Given the description of an element on the screen output the (x, y) to click on. 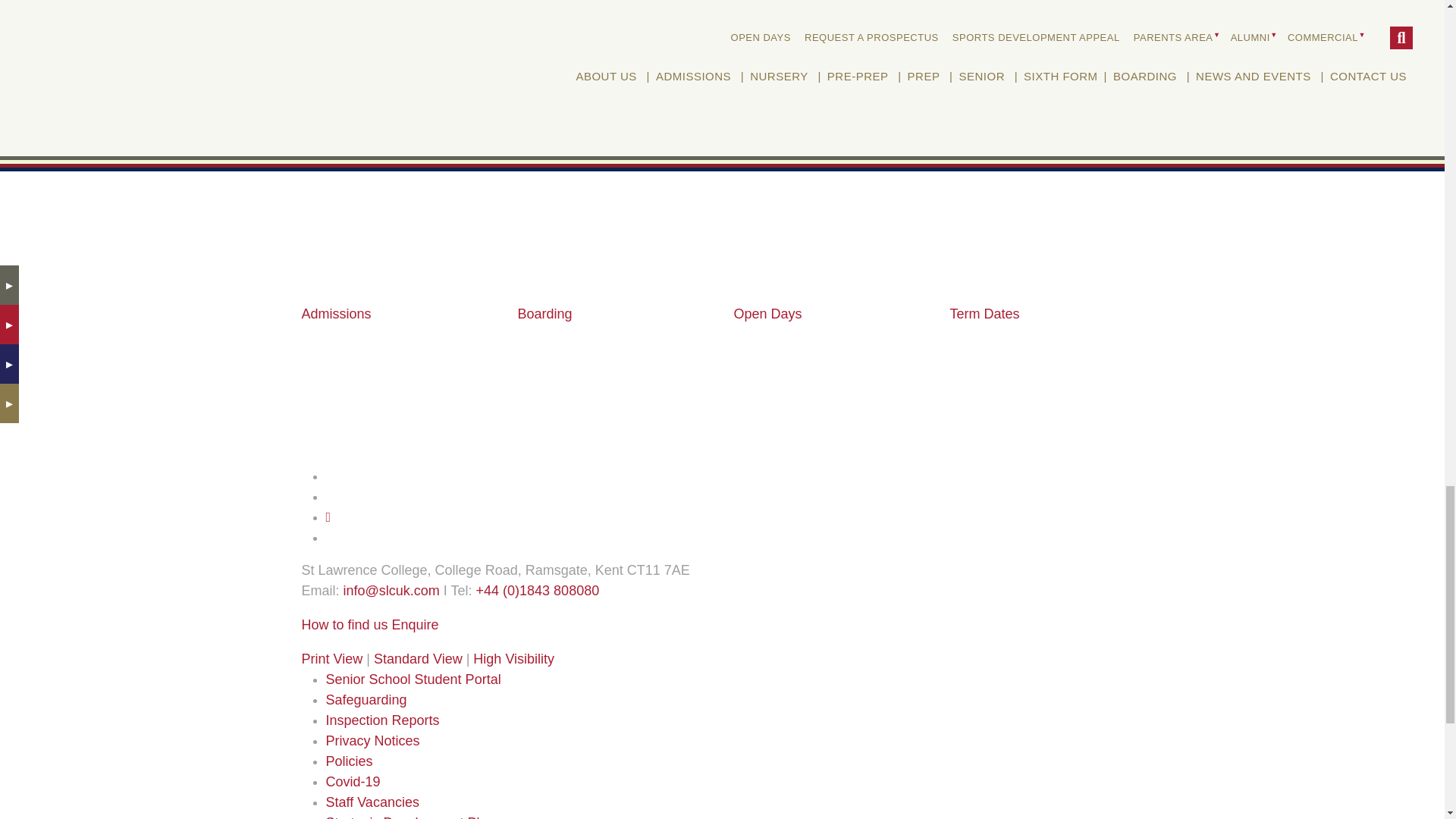
Switch to High Visibility (513, 658)
Switch to Standard Visibility (418, 658)
Switch to Print (331, 658)
Location (344, 624)
Enquiry Form (415, 624)
